Given the description of an element on the screen output the (x, y) to click on. 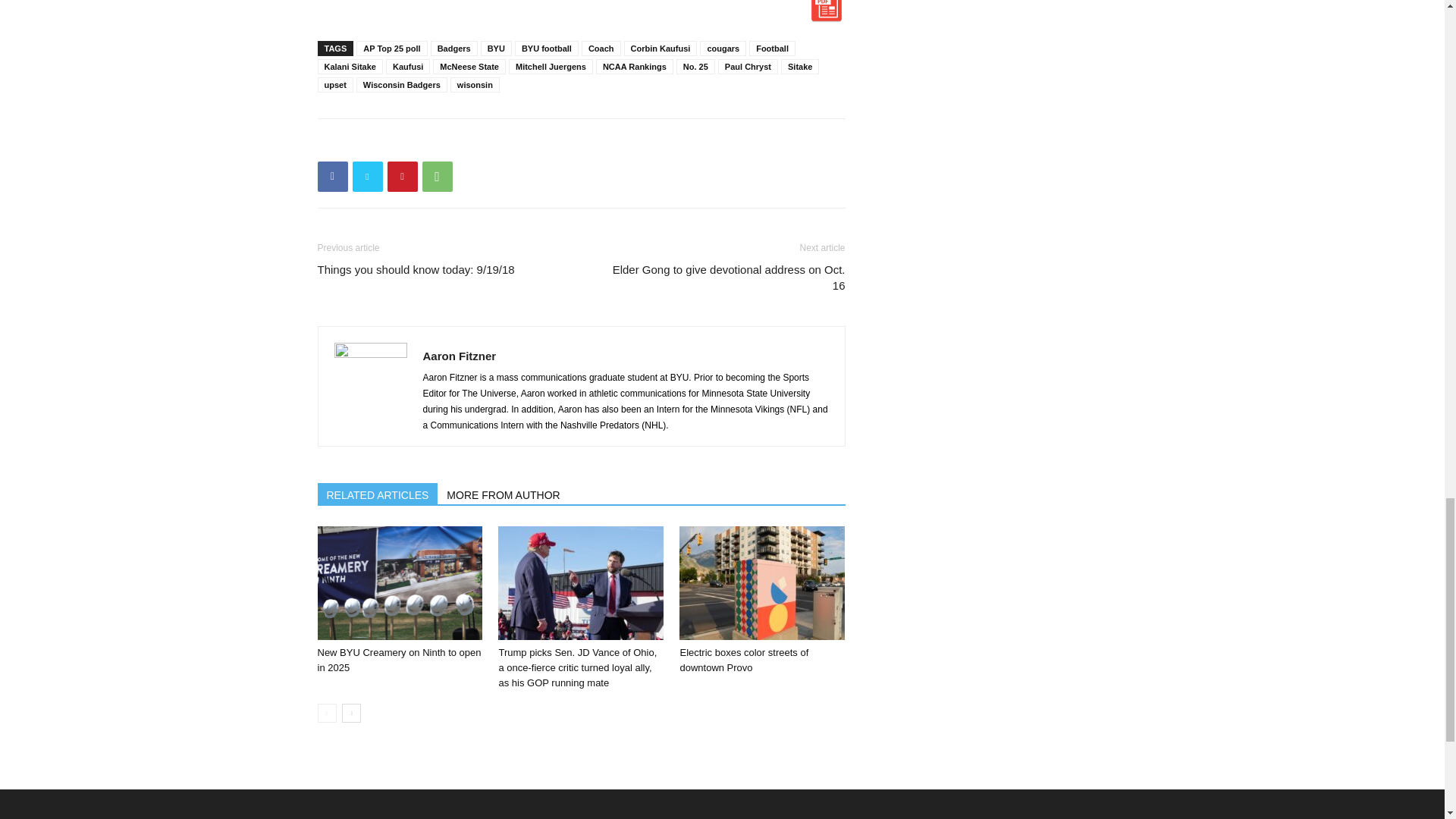
Twitter (366, 176)
WhatsApp (436, 176)
Facebook (332, 176)
Pinterest (401, 176)
